Given the description of an element on the screen output the (x, y) to click on. 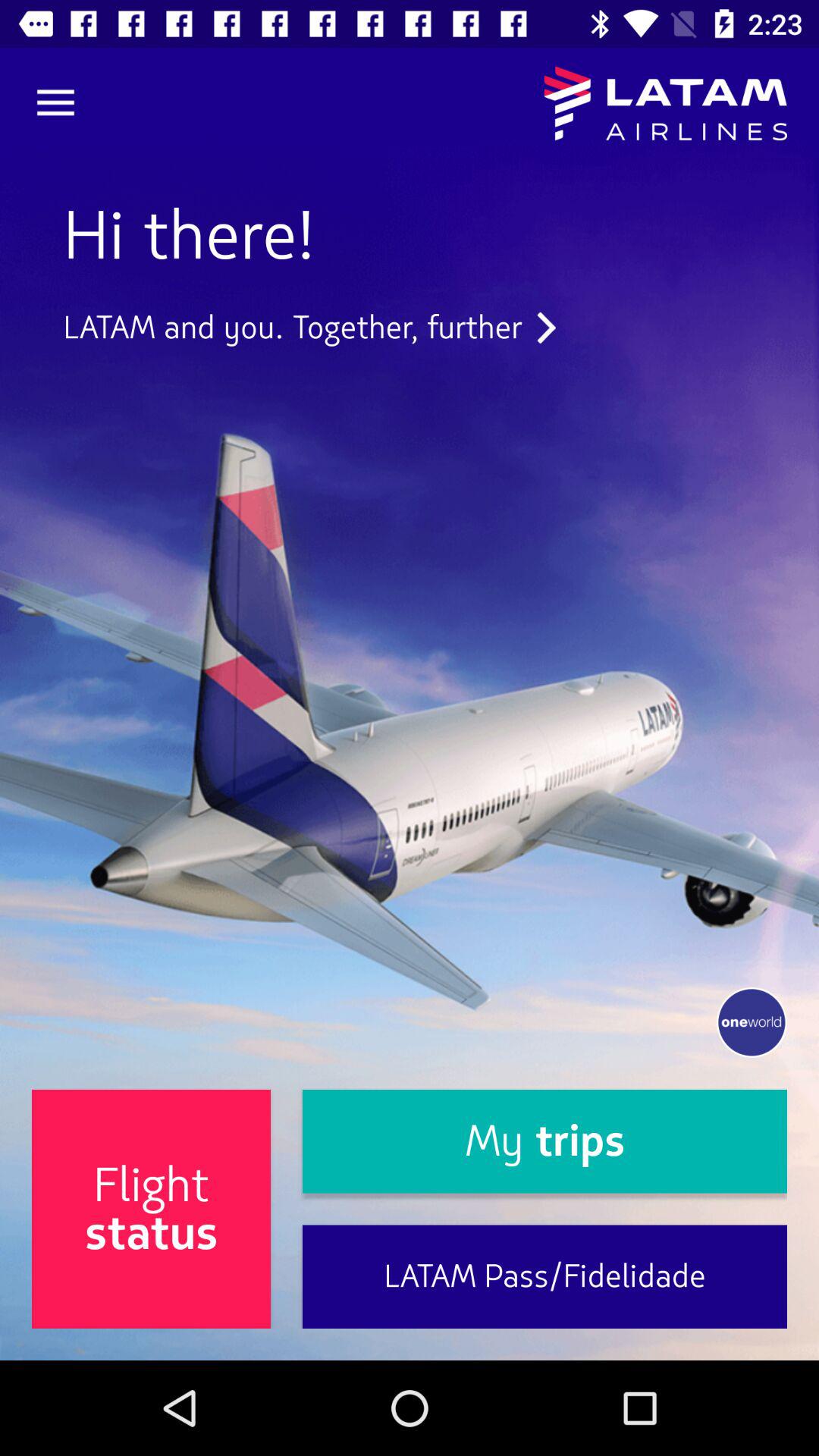
turn on icon above flight
status (309, 327)
